Given the description of an element on the screen output the (x, y) to click on. 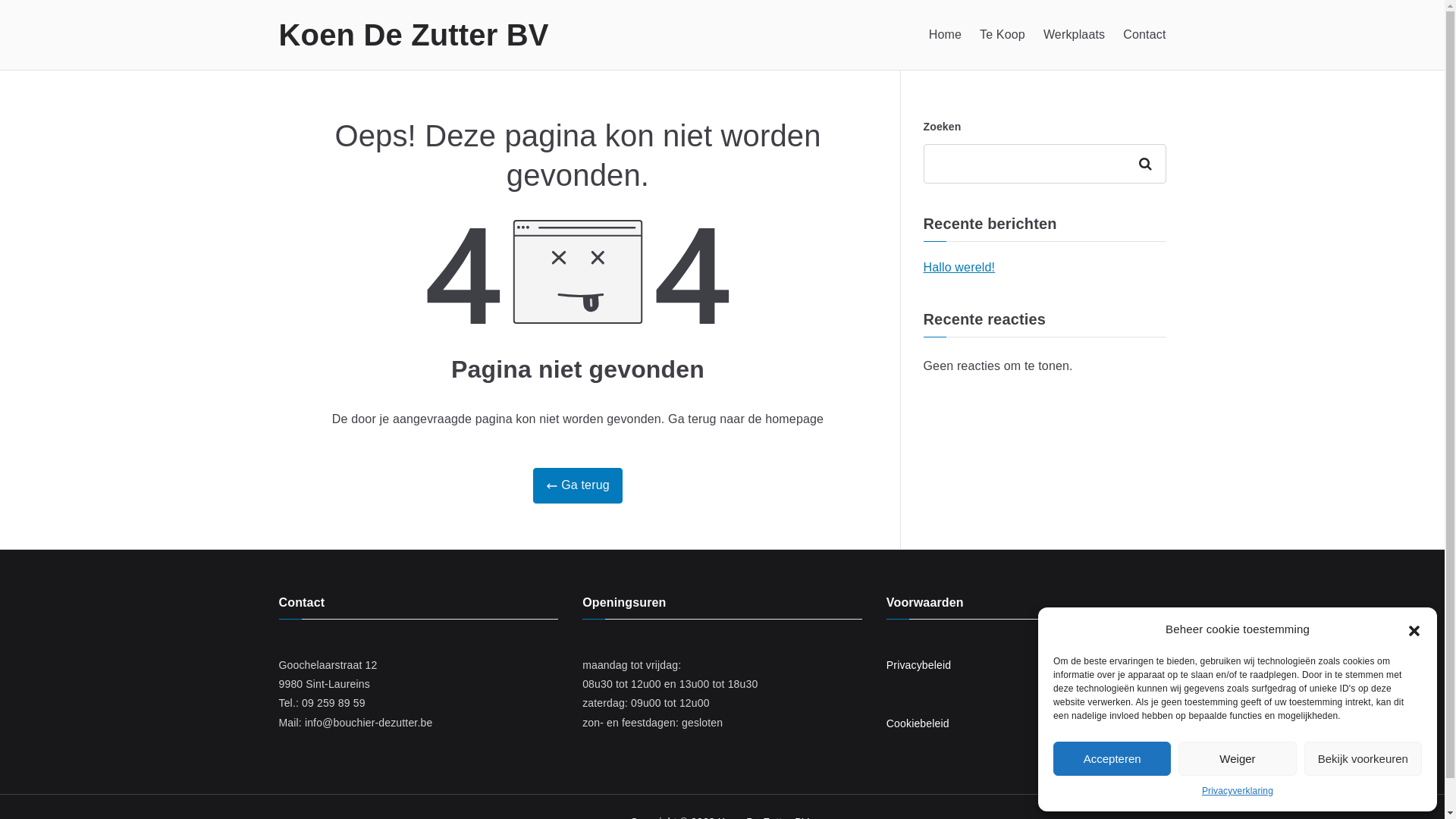
Koen De Zutter BV Element type: text (414, 34)
Cookiebeleid Element type: text (917, 723)
Ga terug Element type: text (577, 485)
Hallo wereld! Element type: text (959, 268)
Accepteren Element type: text (1111, 758)
Contact Element type: text (1144, 35)
Privacybeleid Element type: text (918, 664)
Privacyverklaring Element type: text (1237, 791)
Bekijk voorkeuren Element type: text (1362, 758)
Te Koop Element type: text (1002, 35)
Weiger Element type: text (1236, 758)
Home Element type: text (944, 35)
Werkplaats Element type: text (1073, 35)
Zoeken Element type: text (1147, 163)
